Given the description of an element on the screen output the (x, y) to click on. 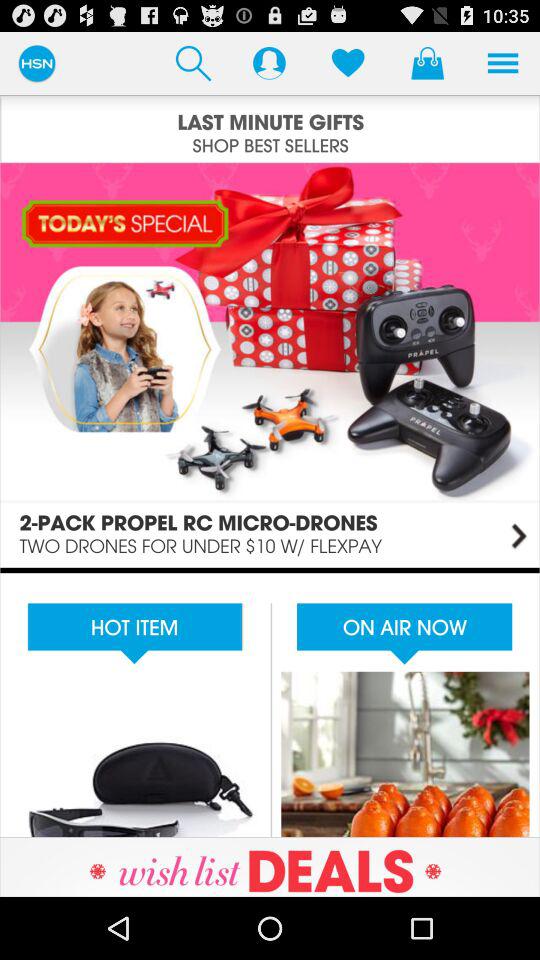
access profile (269, 62)
